Given the description of an element on the screen output the (x, y) to click on. 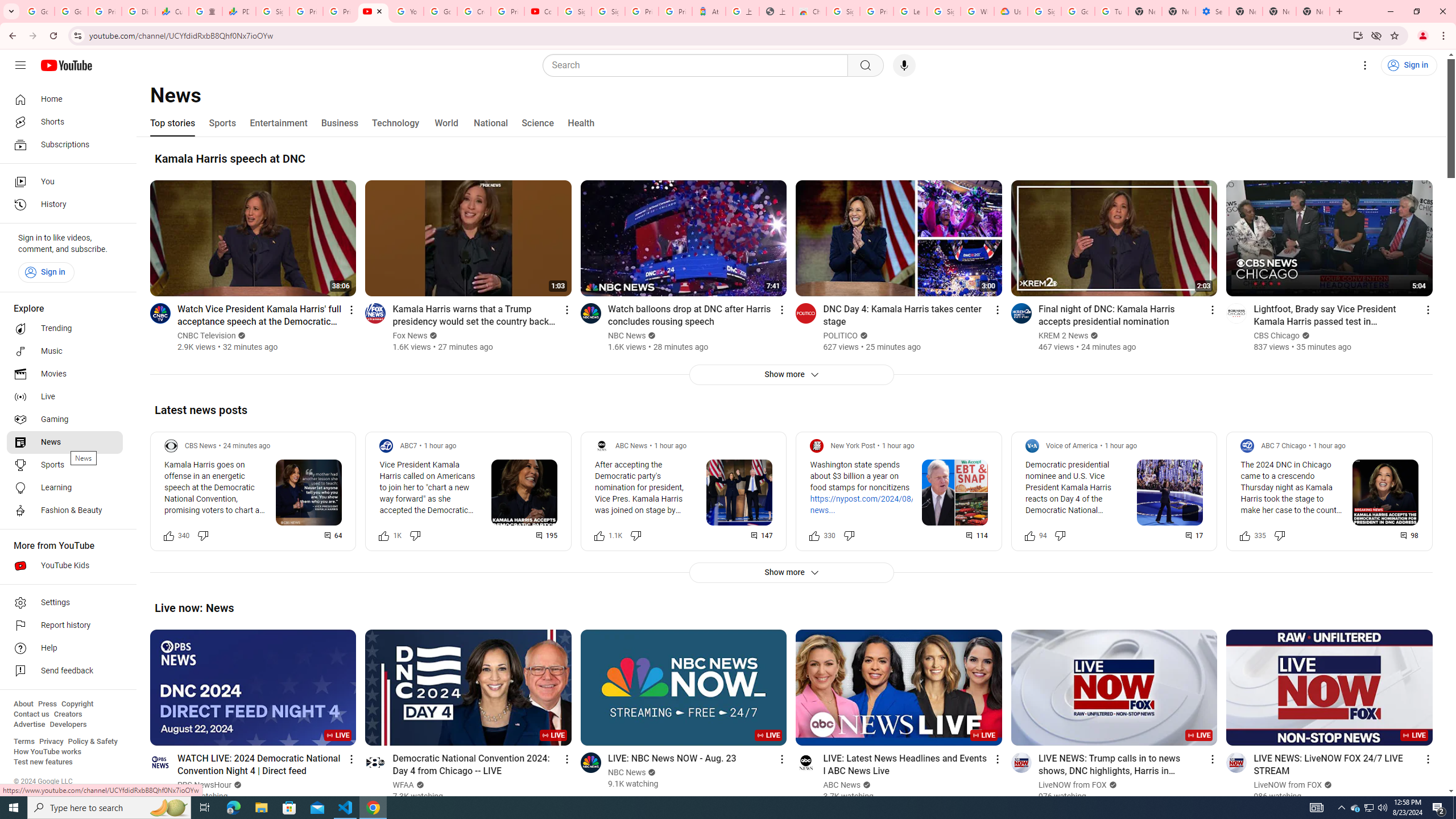
YouTube Home (66, 65)
Contact us (31, 714)
YouTube Kids (64, 565)
POLITICO (840, 335)
ABC7 (408, 445)
ABC 7 Chicago (1283, 445)
Health (580, 122)
Like this post along with 94 other people (1029, 534)
